Given the description of an element on the screen output the (x, y) to click on. 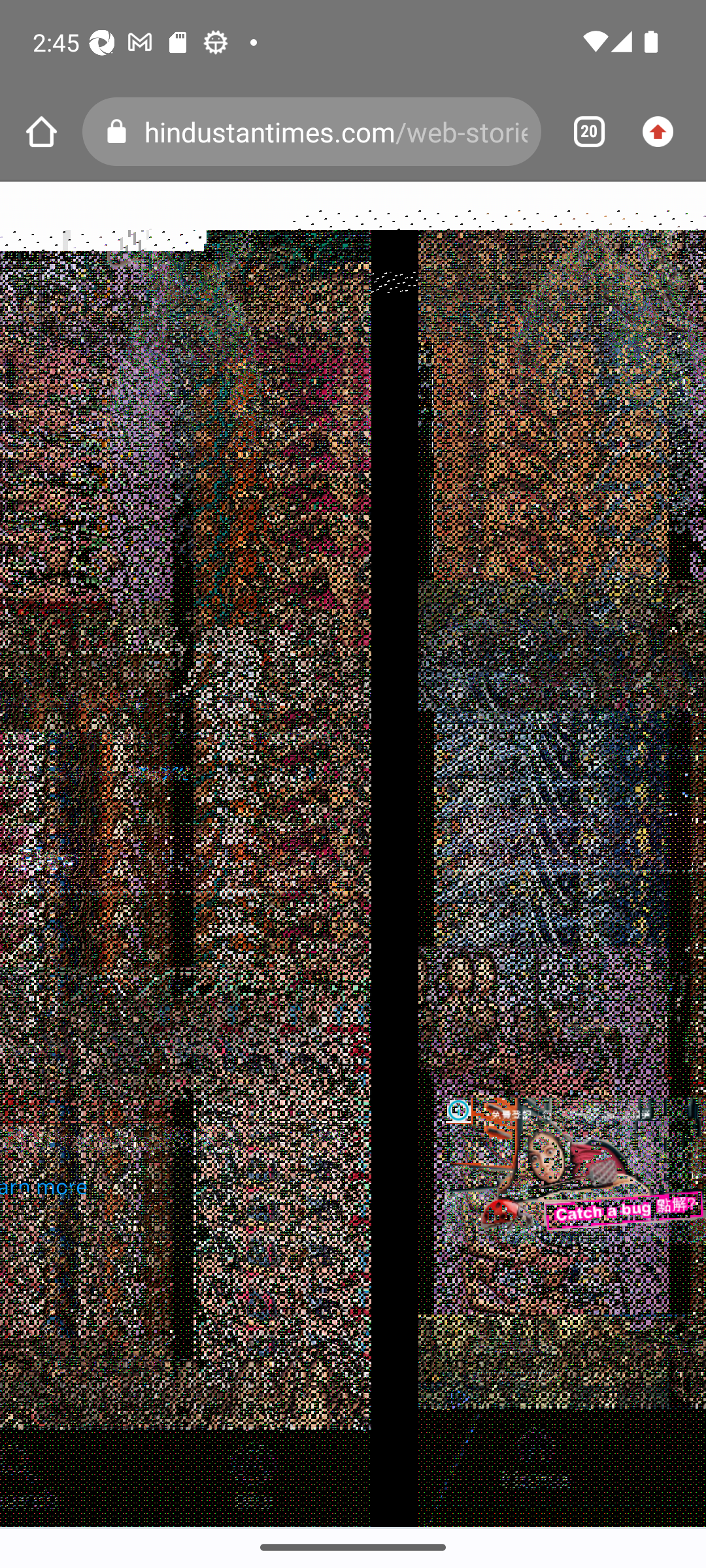
Home (41, 131)
Connection is secure (120, 131)
Switch or close tabs (582, 131)
Update available. More options (664, 131)
